Given the description of an element on the screen output the (x, y) to click on. 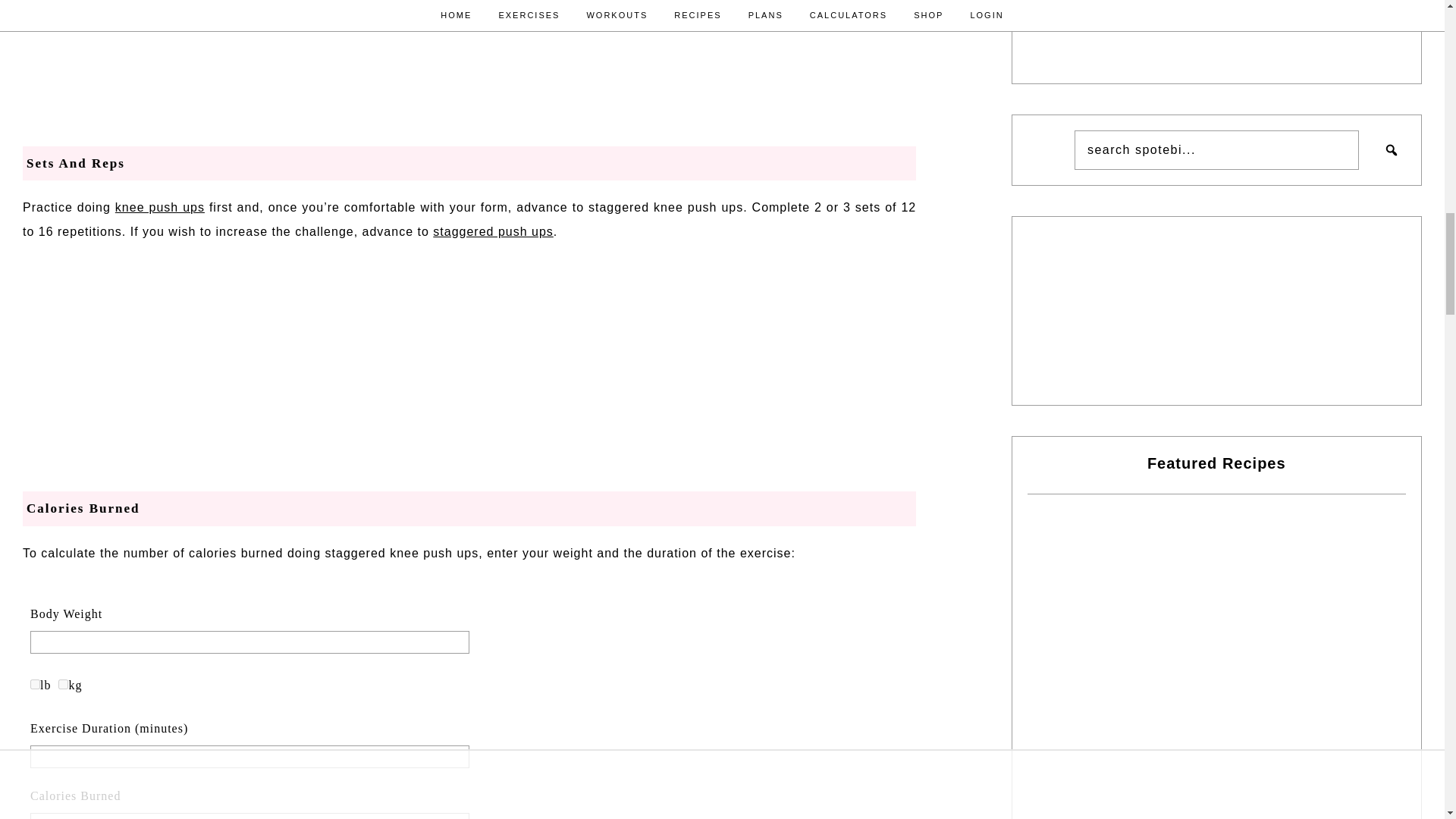
18 (35, 684)
8 (63, 684)
knee push ups (160, 206)
staggered push ups (492, 231)
